Given the description of an element on the screen output the (x, y) to click on. 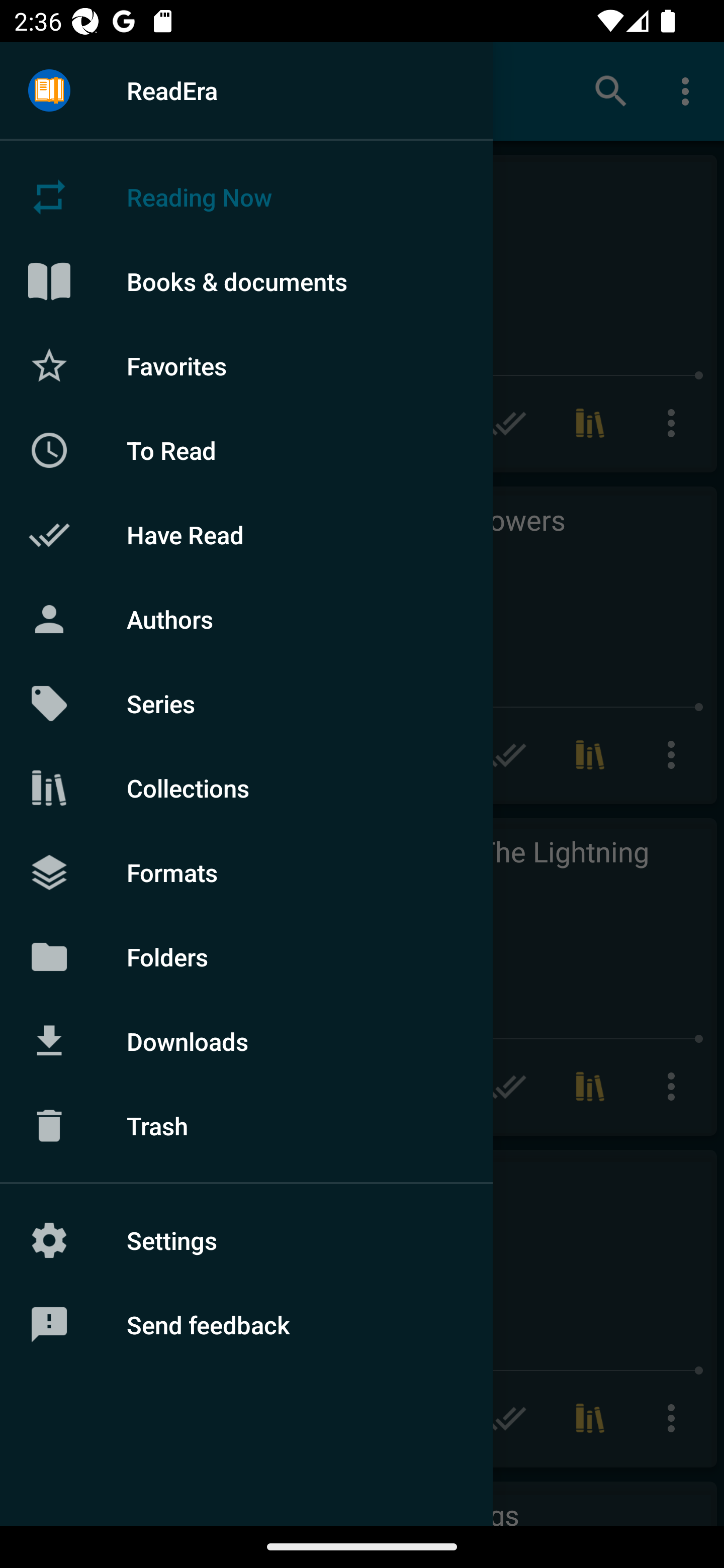
Menu (49, 91)
ReadEra (246, 89)
Search books & documents (611, 90)
More options (688, 90)
Reading Now (246, 197)
Books & documents (246, 281)
Favorites (246, 365)
To Read (246, 449)
Have Read (246, 534)
Authors (246, 619)
Series (246, 703)
Collections (246, 787)
Formats (246, 871)
Folders (246, 956)
Downloads (246, 1040)
Trash (246, 1125)
Settings (246, 1239)
Send feedback (246, 1324)
